Given the description of an element on the screen output the (x, y) to click on. 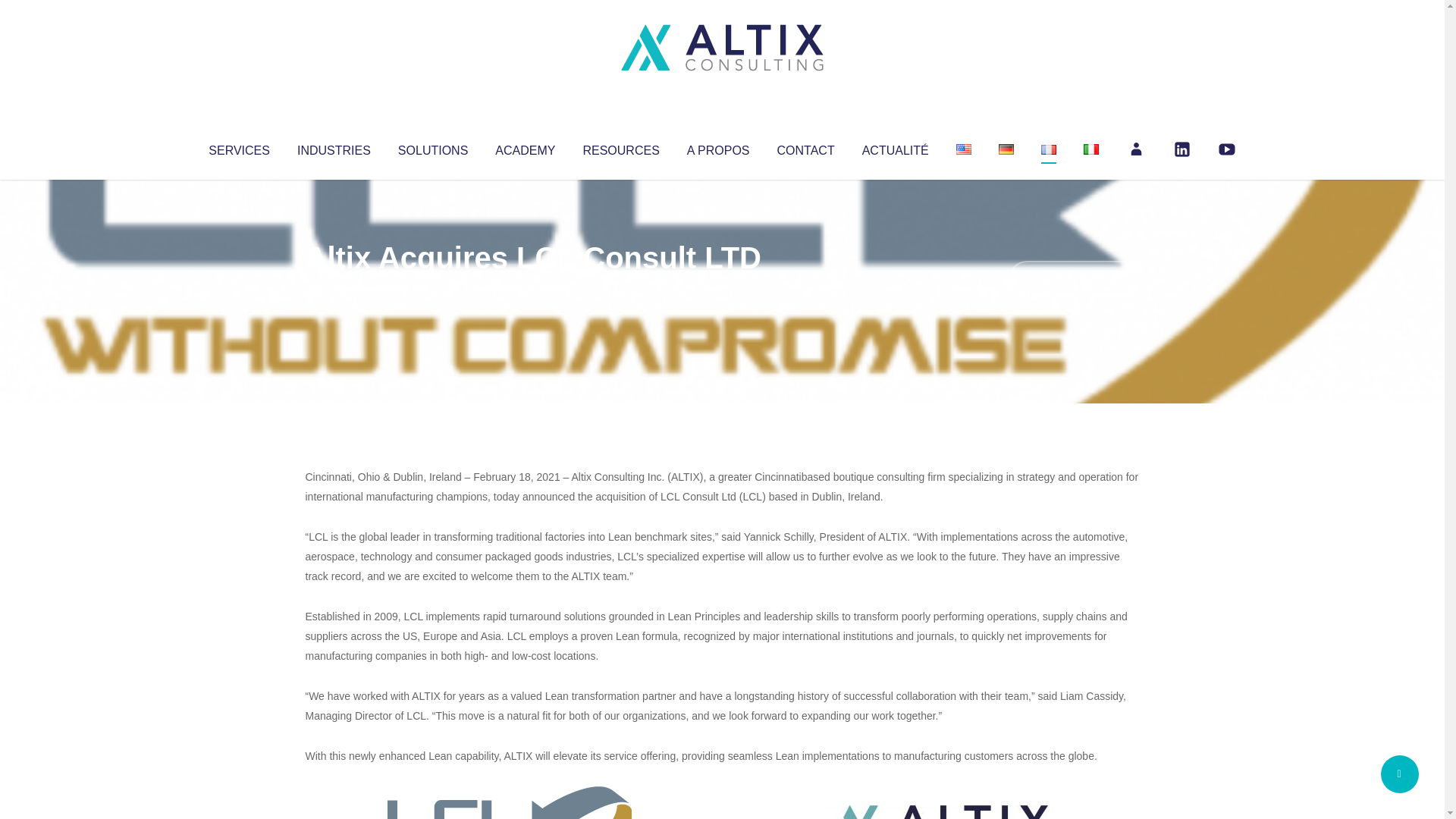
A PROPOS (718, 146)
ACADEMY (524, 146)
Articles par Altix (333, 287)
No Comments (1073, 278)
Altix (333, 287)
SOLUTIONS (432, 146)
INDUSTRIES (334, 146)
Uncategorized (530, 287)
RESOURCES (620, 146)
SERVICES (238, 146)
